Given the description of an element on the screen output the (x, y) to click on. 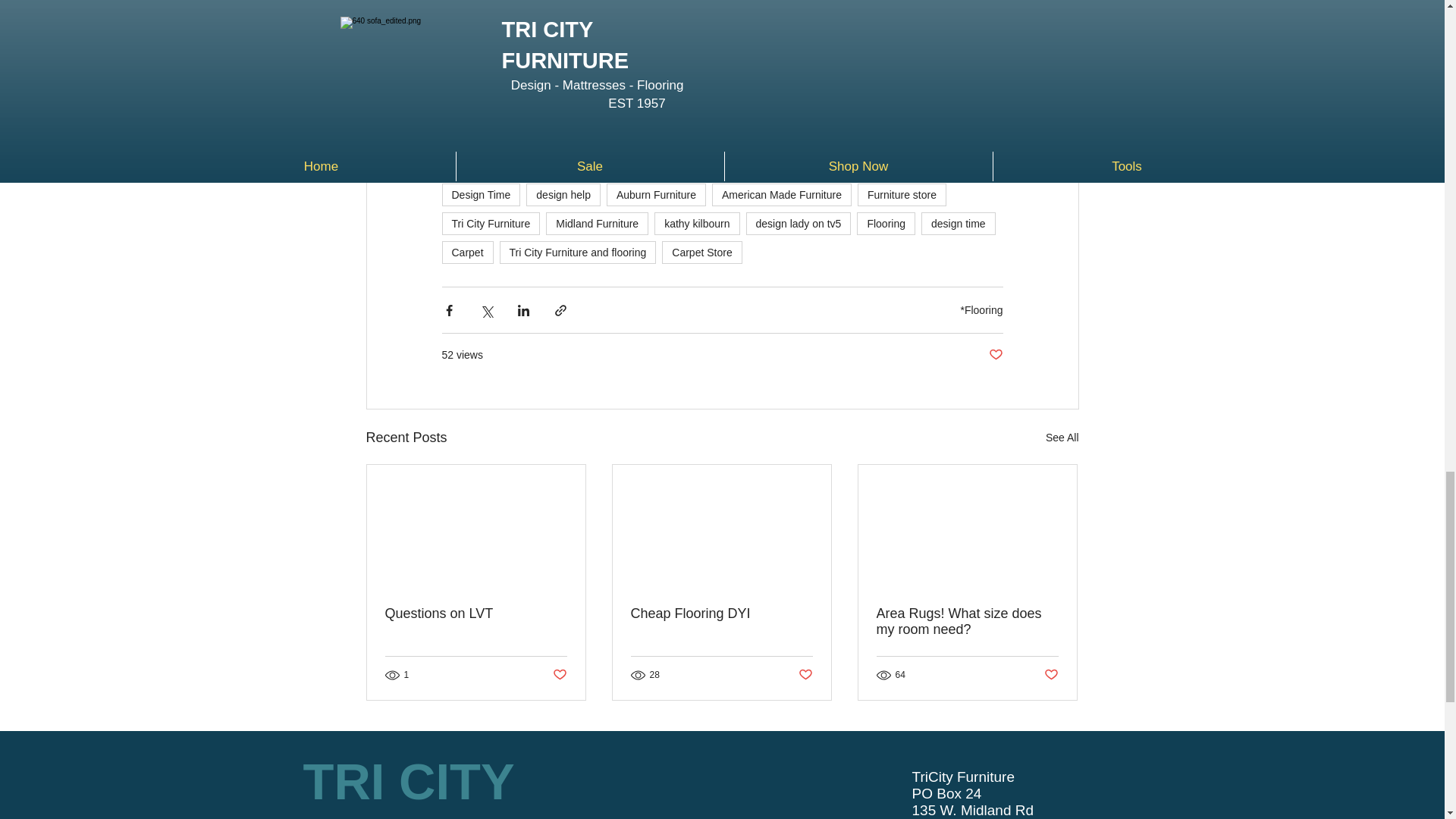
design lady on tv5 (798, 223)
Tri City Furniture (490, 223)
Auburn Furniture (656, 194)
American Made Furniture (781, 194)
Design Time (480, 194)
Carpet (467, 251)
Flooring (886, 223)
Furniture store (901, 194)
design help (562, 194)
Midland Furniture (596, 223)
